Given the description of an element on the screen output the (x, y) to click on. 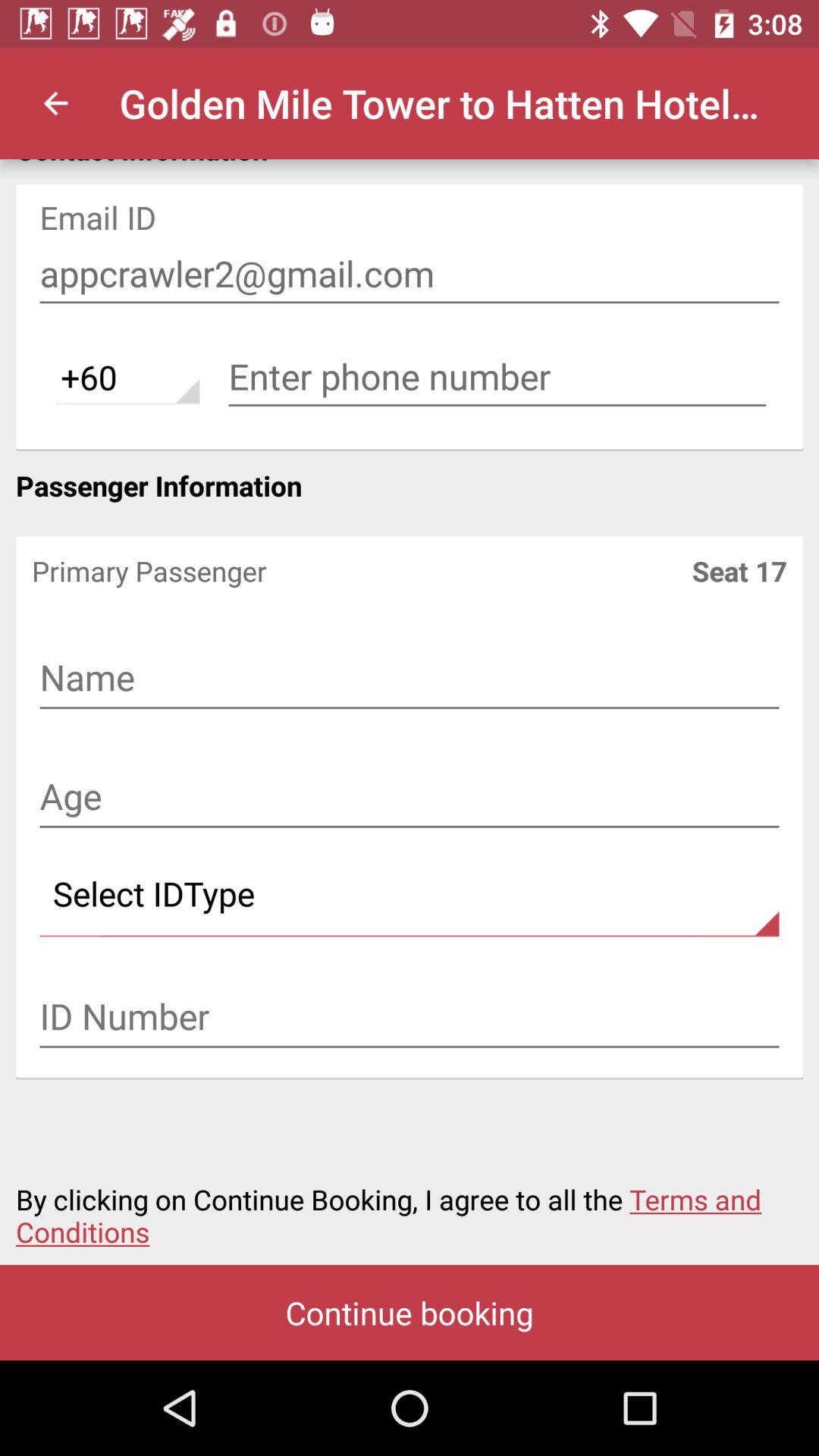
swipe to the by clicking on icon (409, 1206)
